Given the description of an element on the screen output the (x, y) to click on. 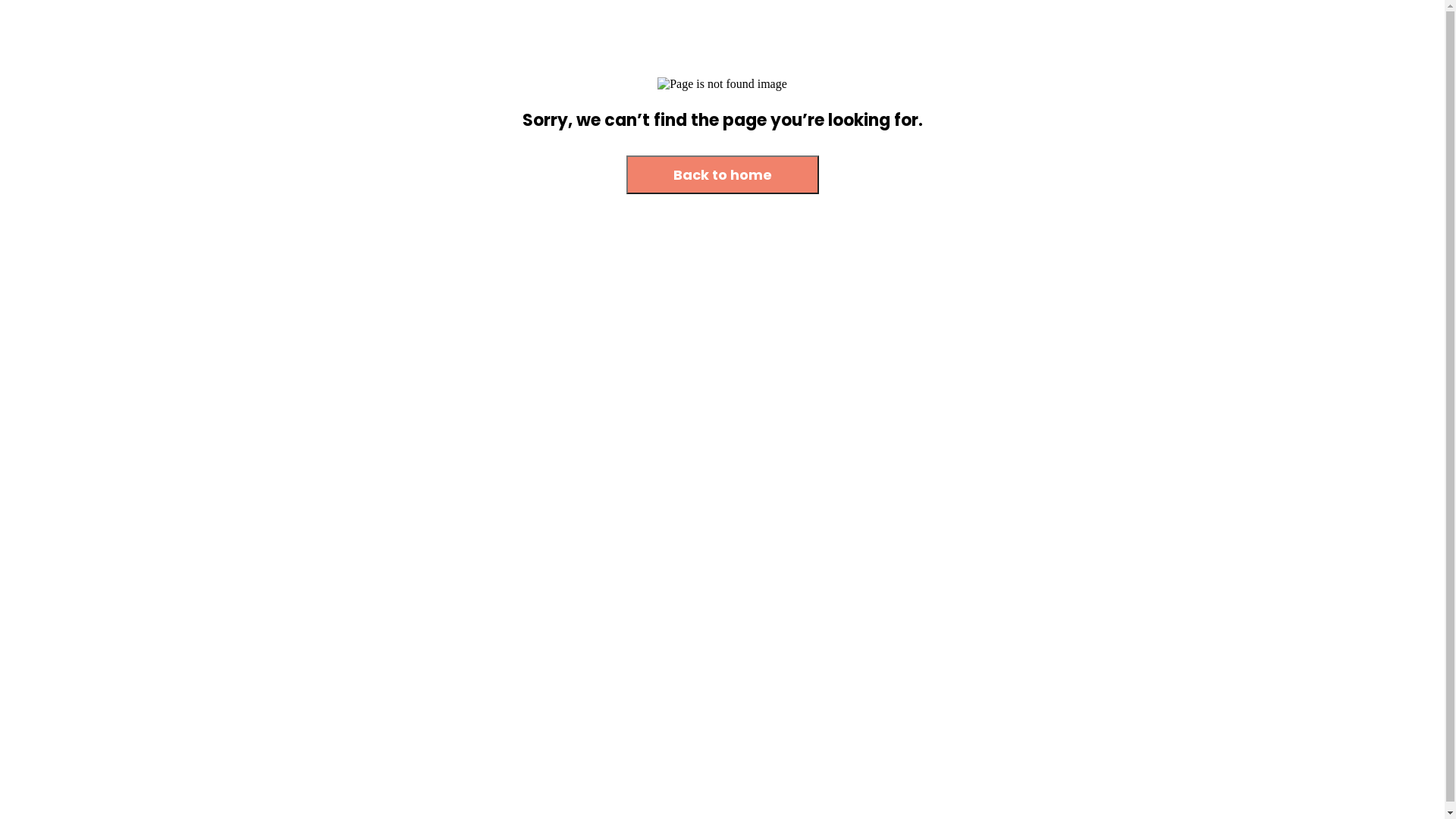
Back to home Element type: text (722, 175)
Back to home Element type: text (722, 174)
